Given the description of an element on the screen output the (x, y) to click on. 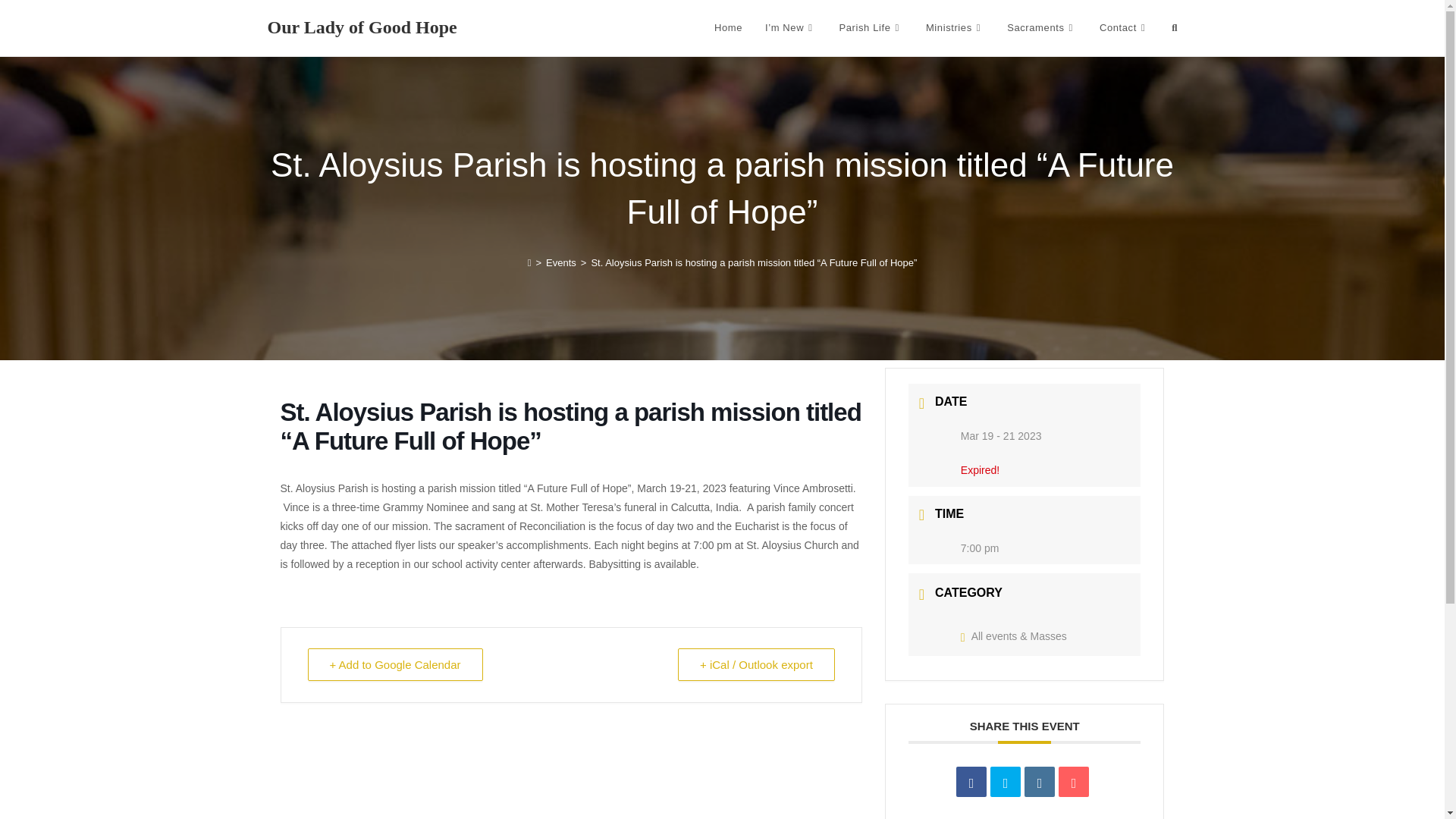
Tweet (1005, 781)
Our Lady of Good Hope (361, 26)
Ministries (954, 28)
Email (1073, 781)
Parish Life (871, 28)
Share on Facebook (971, 781)
Linkedin (1039, 781)
Home (728, 28)
